Given the description of an element on the screen output the (x, y) to click on. 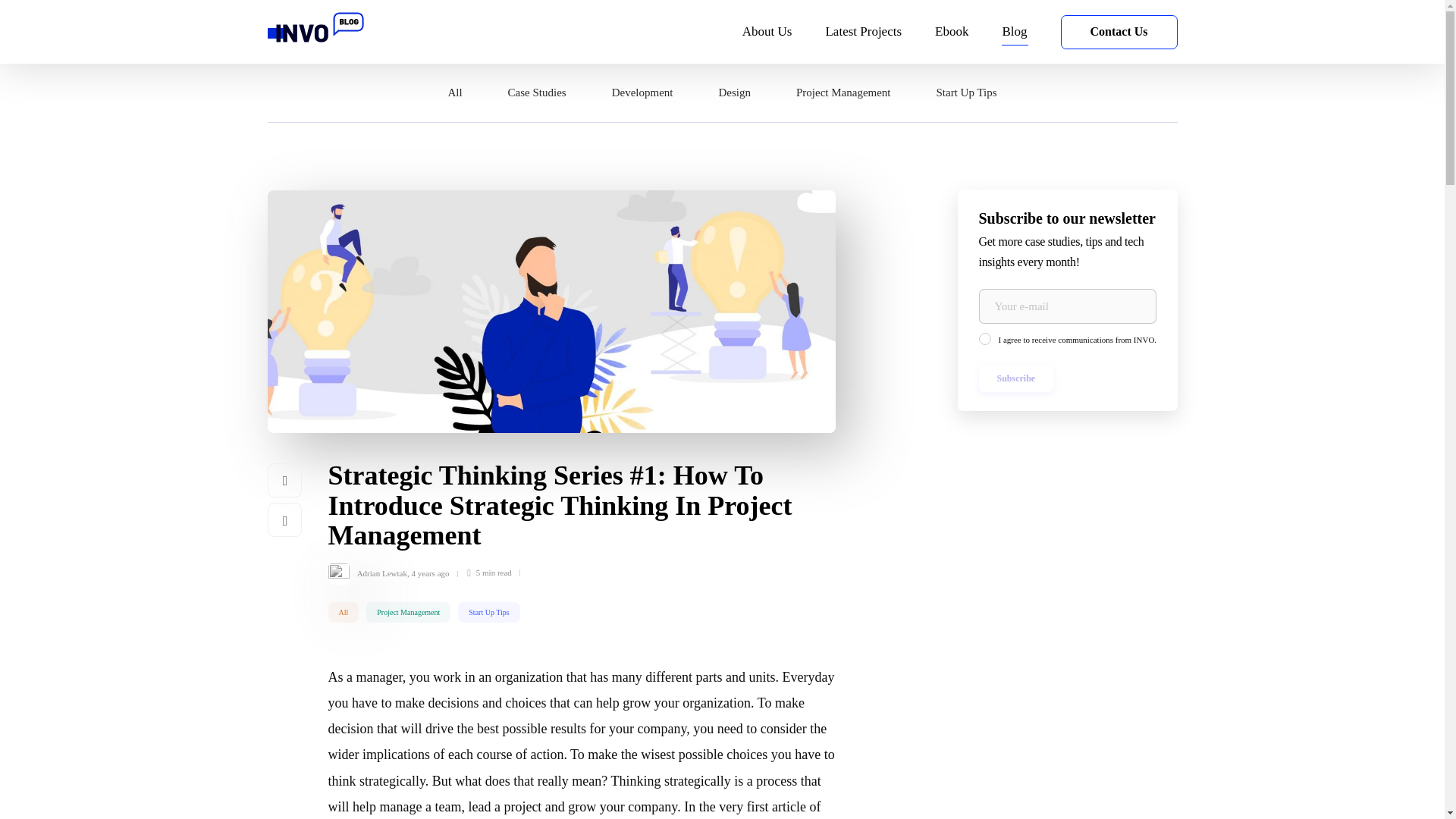
Start Up Tips (488, 611)
Project Management (407, 611)
Development (641, 93)
4 years ago (429, 572)
Start Up Tips (966, 93)
Case Studies (537, 93)
Project Management (843, 93)
Design (734, 93)
Contact Us (1117, 32)
All (342, 611)
Adrian Lewtak (381, 572)
